Given the description of an element on the screen output the (x, y) to click on. 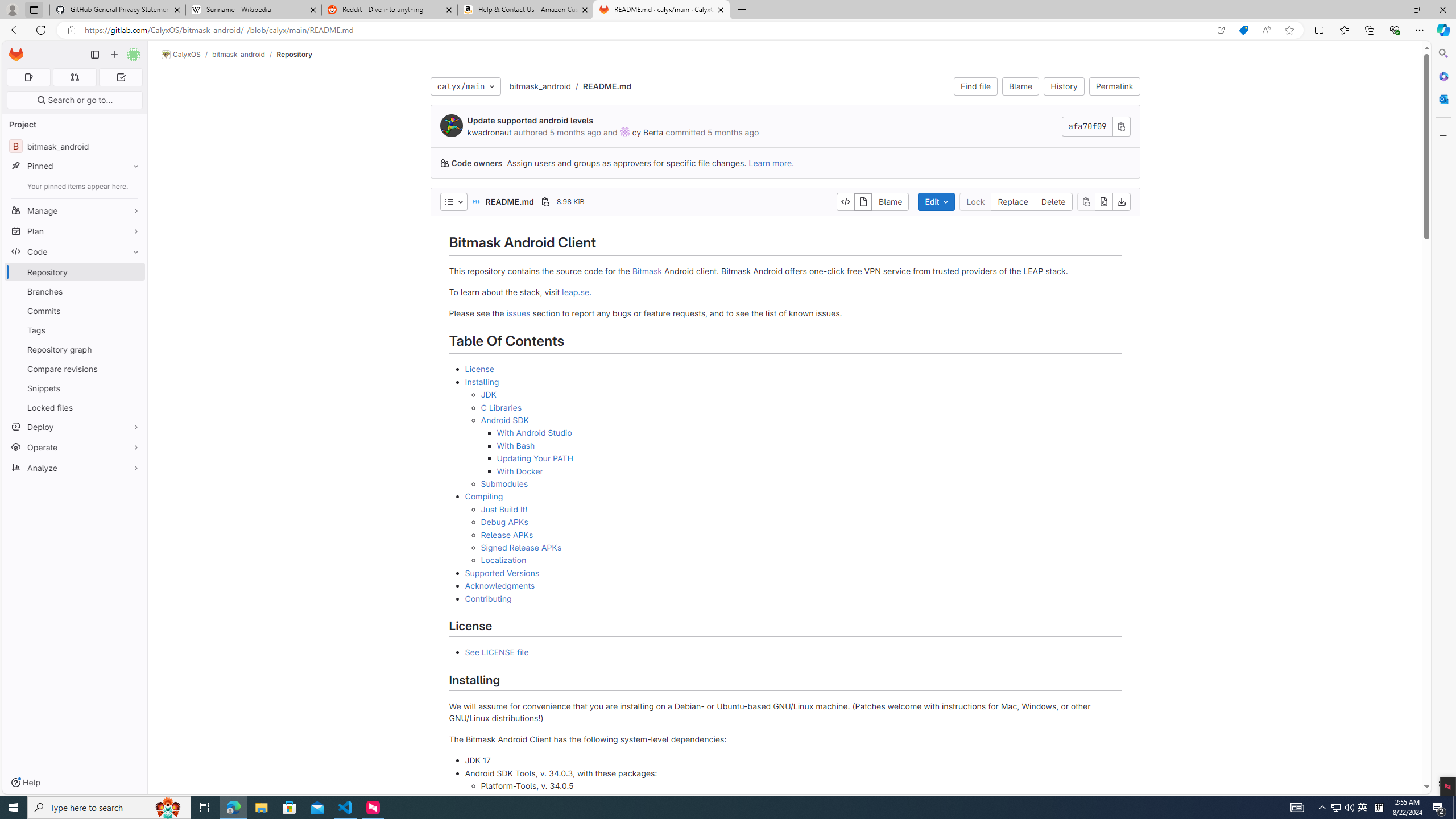
Create new... (113, 54)
Repository graph (74, 348)
Plan (74, 230)
Download (1121, 201)
C Libraries (501, 406)
Copy file path (544, 201)
See LICENSE file (792, 652)
Locked files (74, 407)
Analyze (74, 467)
